Given the description of an element on the screen output the (x, y) to click on. 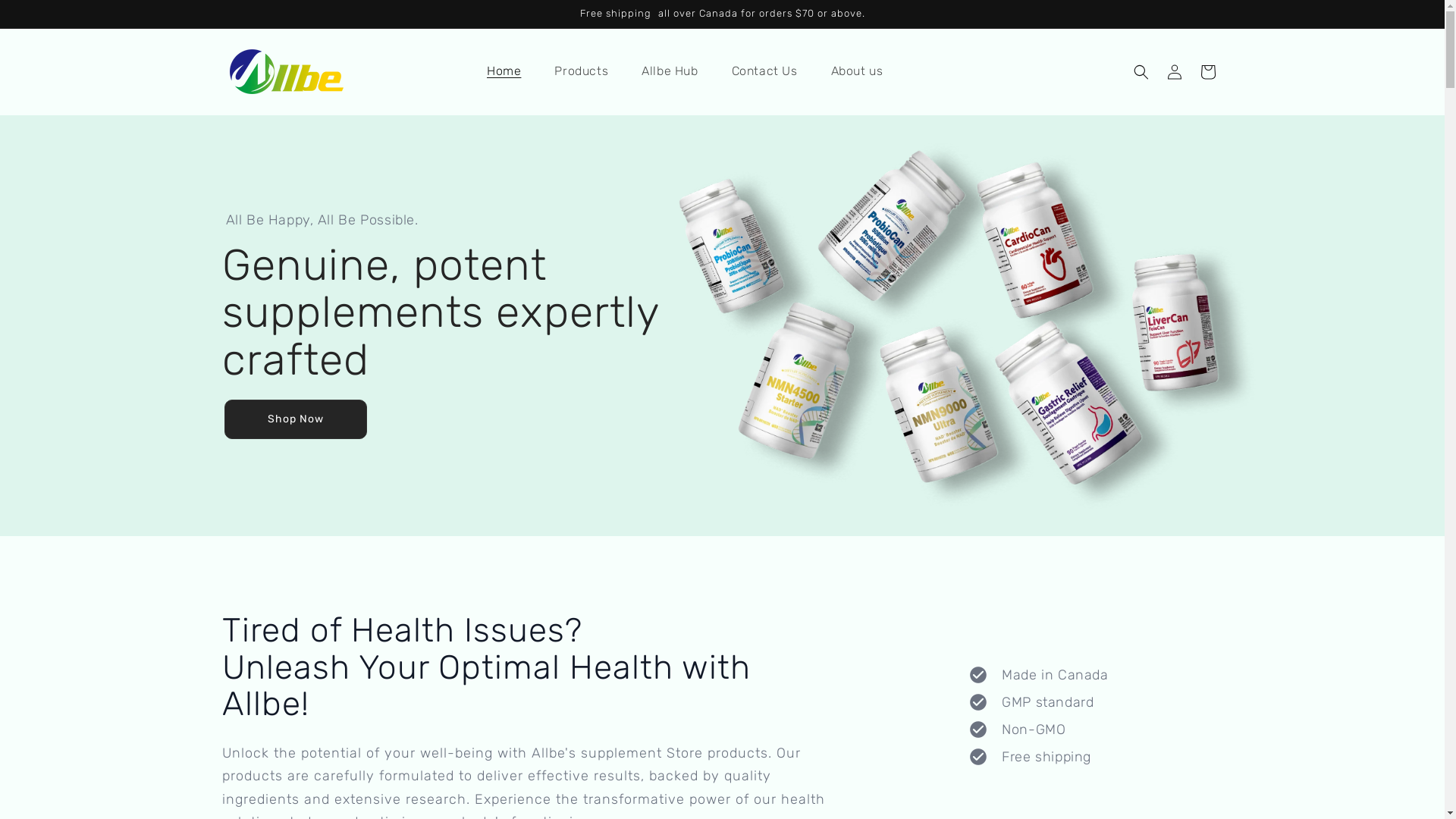
Home Element type: text (503, 71)
Cart Element type: text (1206, 71)
Shop Now Element type: text (295, 419)
Contact Us Element type: text (764, 71)
Log in Element type: text (1173, 71)
About us Element type: text (857, 71)
Products Element type: text (581, 71)
Allbe Hub Element type: text (669, 71)
Shop Now Element type: text (295, 418)
